Given the description of an element on the screen output the (x, y) to click on. 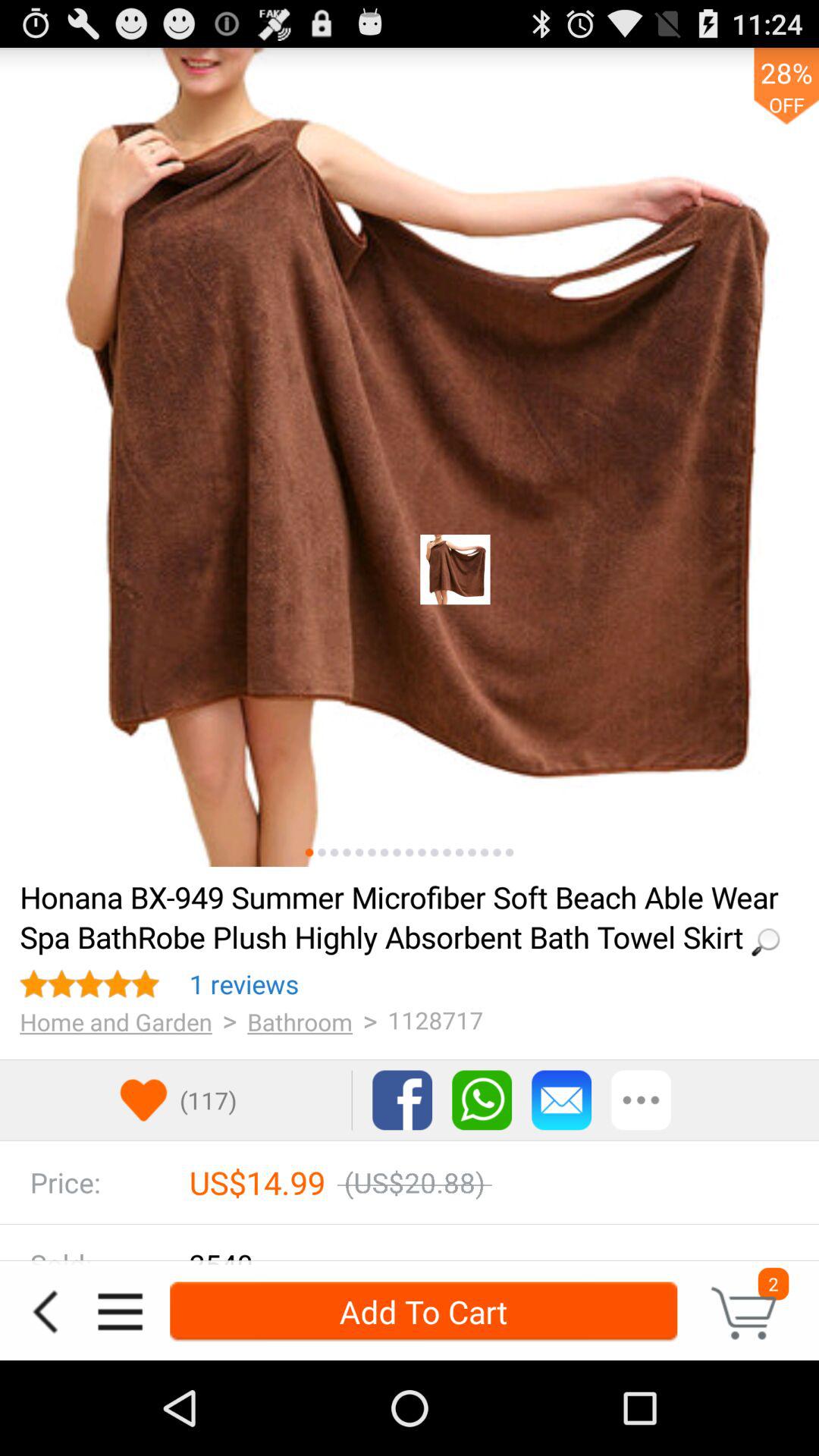
switch to another pic (484, 852)
